Given the description of an element on the screen output the (x, y) to click on. 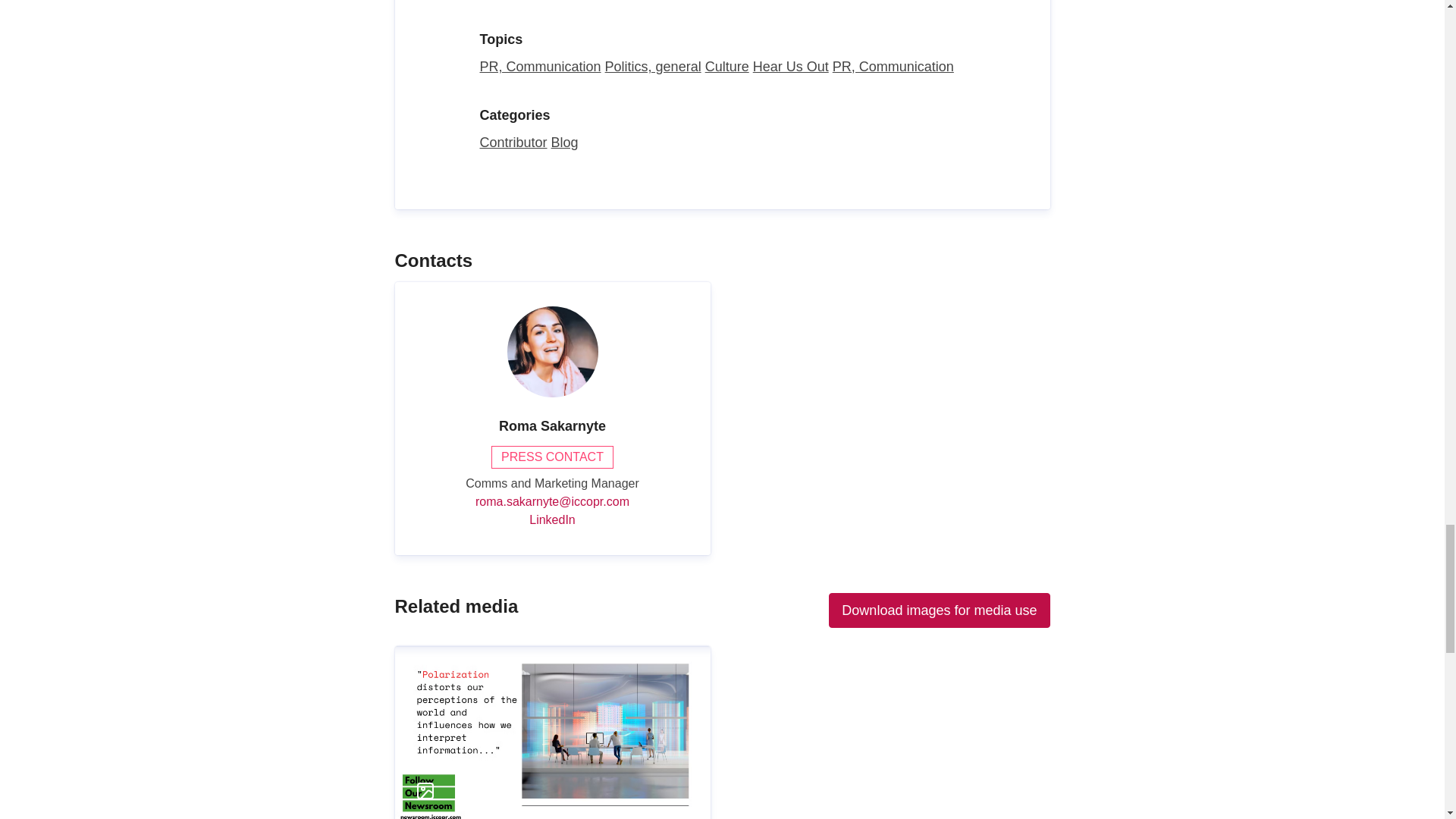
PR, Communication (892, 66)
PR, Communication (539, 66)
Culture (726, 66)
LinkedIn (552, 520)
Politics, general (653, 66)
Hear Us Out (790, 66)
Contributor (513, 142)
Blog (564, 142)
Download images for media use (938, 610)
